Given the description of an element on the screen output the (x, y) to click on. 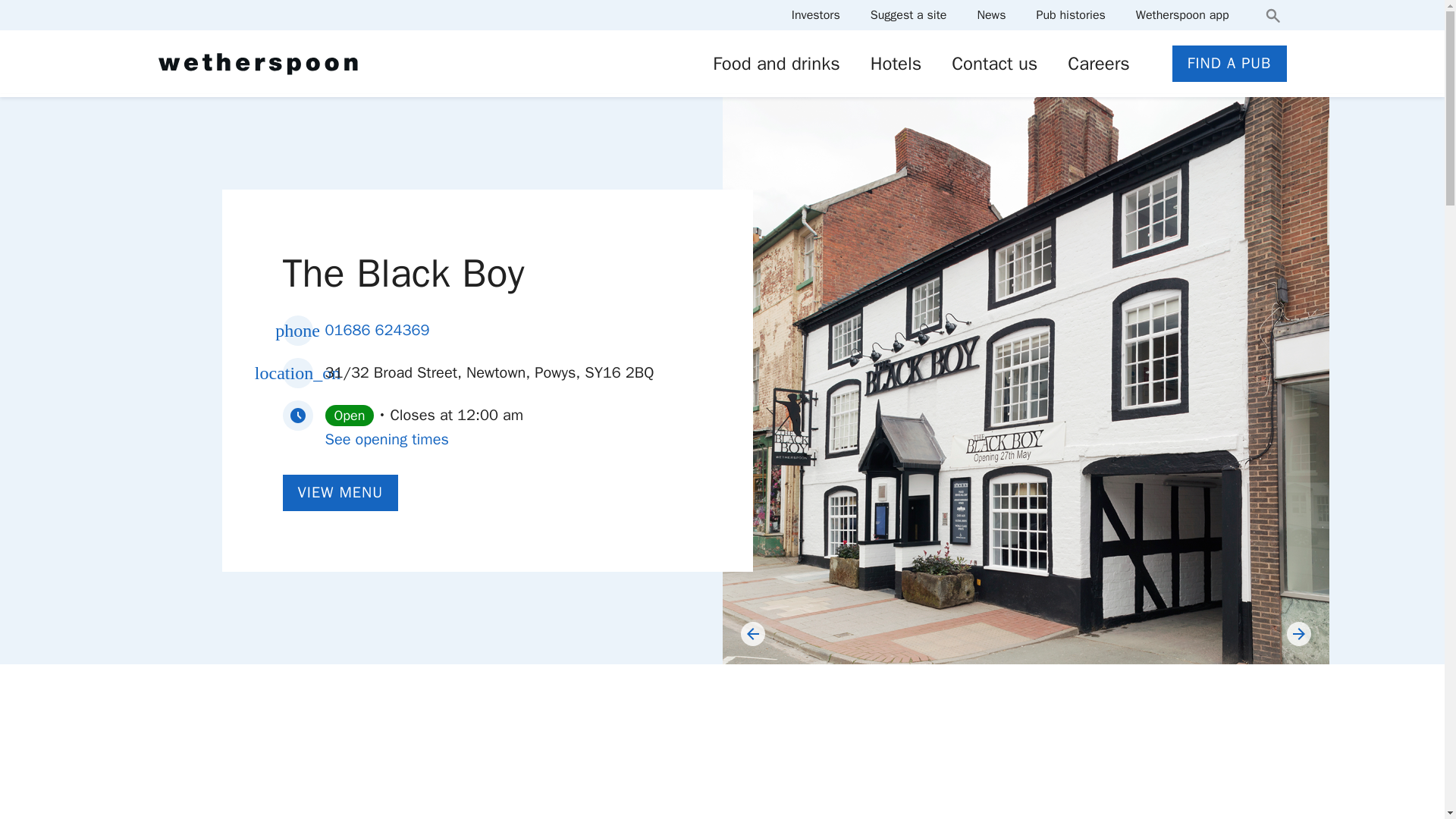
Search (1272, 14)
FIND A PUB (1229, 63)
Suggest a site (908, 14)
Careers (1098, 63)
01686 624369 (376, 330)
Investors (816, 14)
News (991, 14)
VIEW MENU (339, 493)
Hotels (895, 63)
Wetherspoon app (1181, 14)
See opening times (386, 438)
J D Wetherspoon (256, 64)
Pub histories (1070, 14)
Contact us (994, 63)
Food and drinks (776, 63)
